Given the description of an element on the screen output the (x, y) to click on. 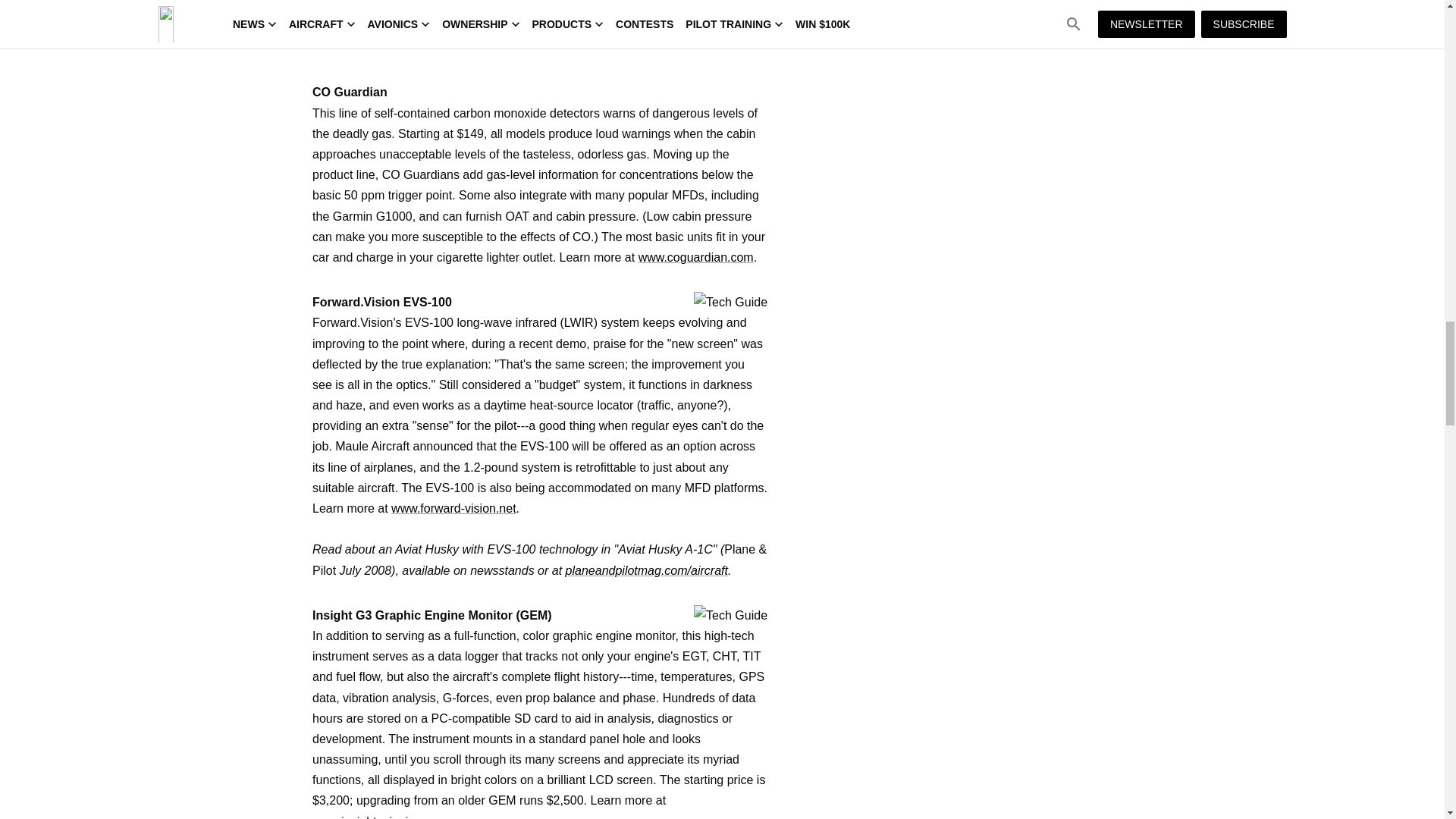
www.coguardian.com (696, 256)
www.insightavionics.com (379, 816)
www.forward-vision.net (453, 508)
